Given the description of an element on the screen output the (x, y) to click on. 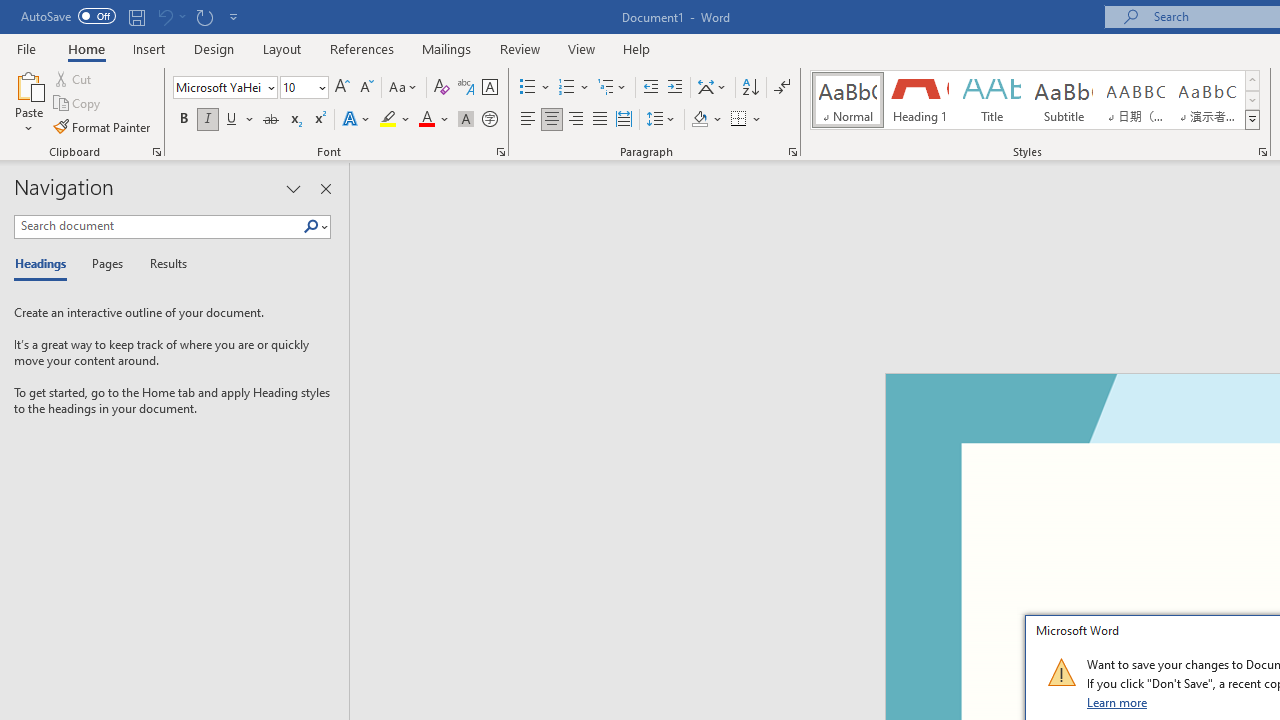
Character Shading (465, 119)
Cut (73, 78)
Home (86, 48)
Text Highlight Color Yellow (388, 119)
Bold (183, 119)
Center (552, 119)
More Options (757, 119)
Text Effects and Typography (357, 119)
Font (218, 87)
Row Down (1252, 100)
Class: NetUIImage (1061, 671)
Character Border (489, 87)
Decrease Indent (650, 87)
Search document (157, 226)
